Given the description of an element on the screen output the (x, y) to click on. 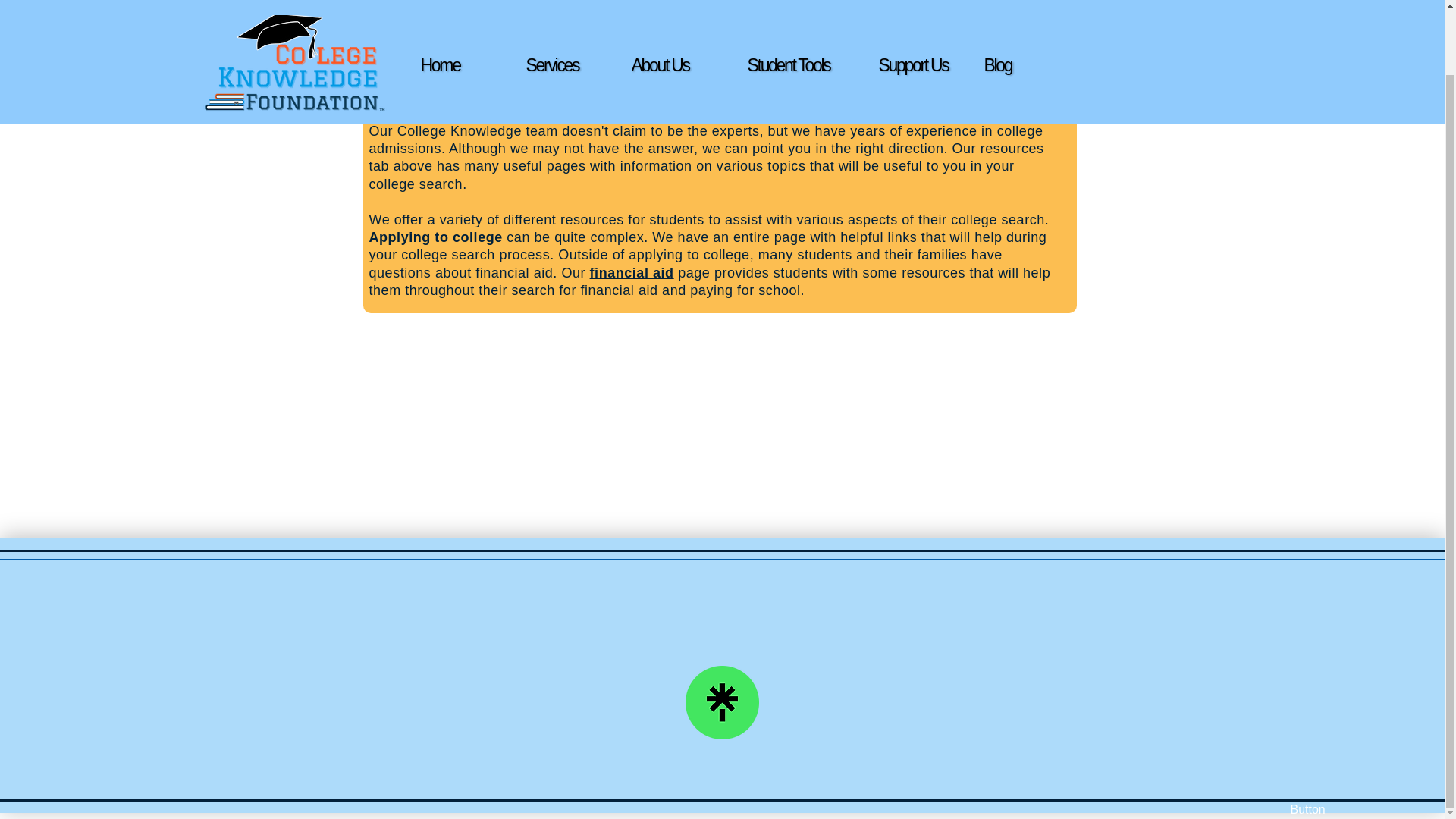
Support Us (930, 2)
Student Tools (800, 2)
Services (578, 2)
Home (472, 2)
About Us (683, 2)
Blog (1024, 2)
